Given the description of an element on the screen output the (x, y) to click on. 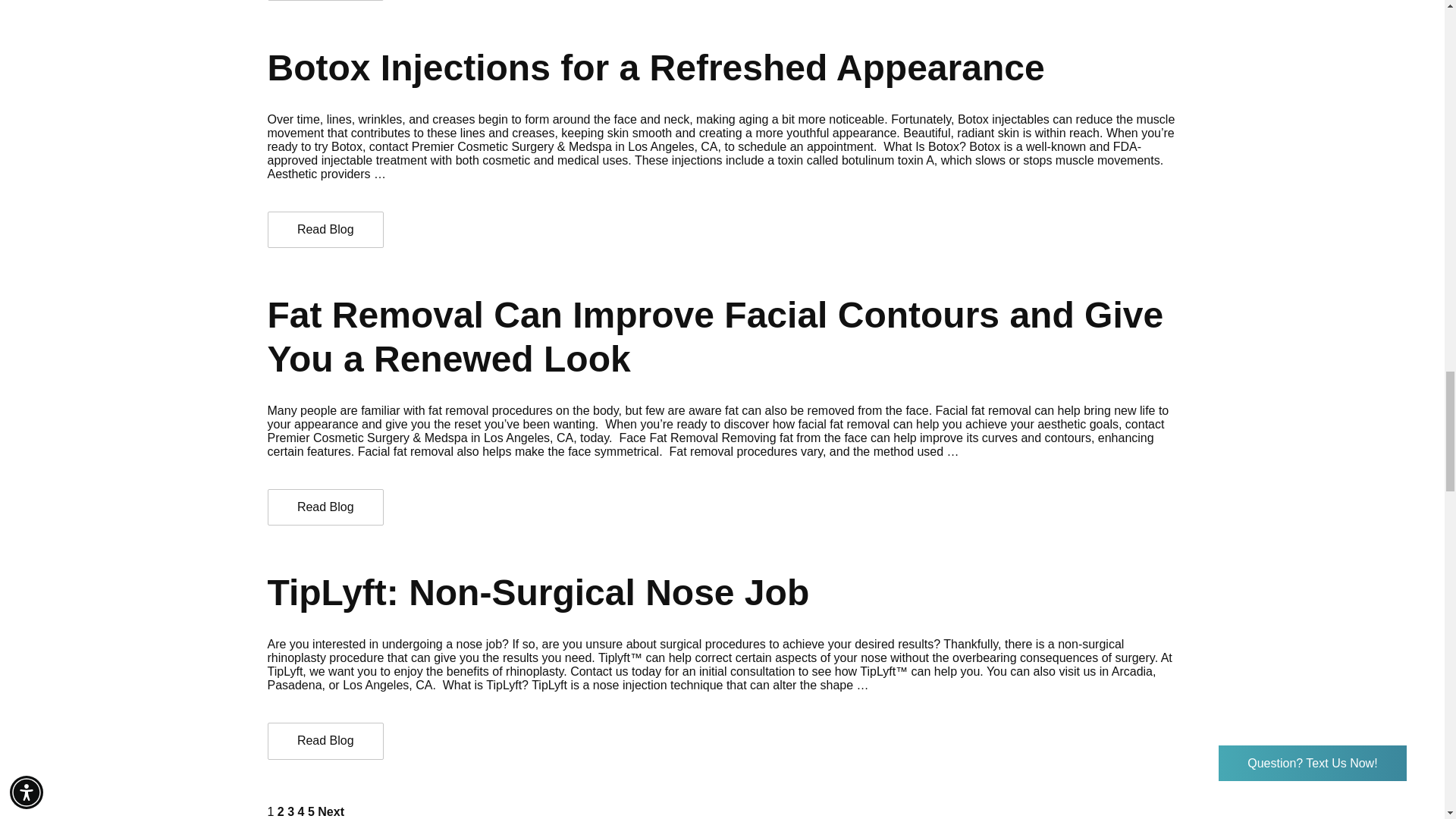
TipLyft: Non-Surgical Nose Job (325, 741)
Botox Injections for a Refreshed Appearance (325, 229)
